Given the description of an element on the screen output the (x, y) to click on. 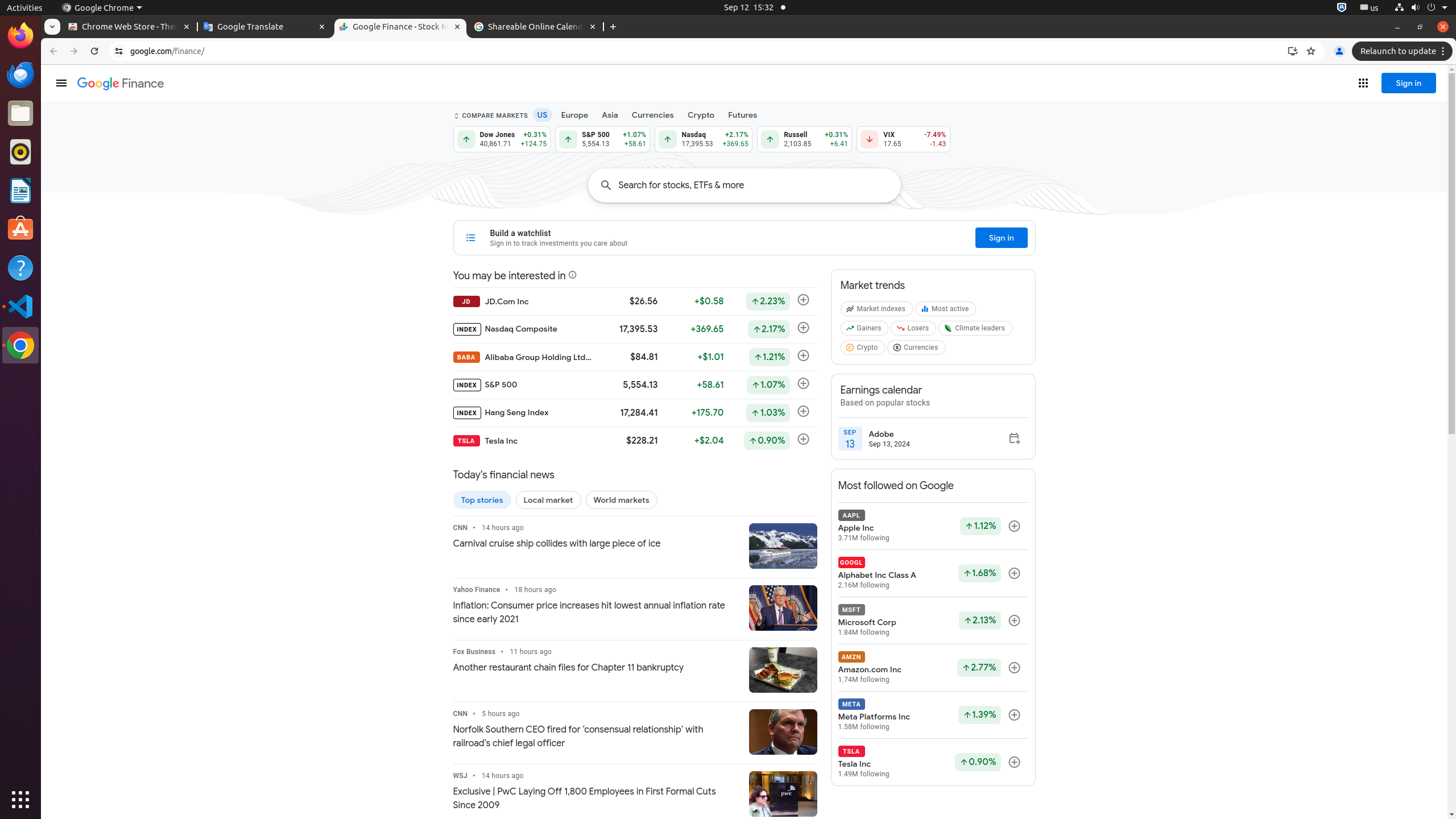
WSJ •  14 hours ago Exclusive | PwC Laying Off 1,800 Employees in First Formal Cuts Since 2009 Element type: link (595, 791)
:1.21/StatusNotifierItem Element type: menu (1369, 7)
Crypto Element type: link (863, 349)
Main menu Element type: push-button (61, 82)
VIX 17.65 Down by 7.49% -1.43 Element type: link (903, 139)
